Given the description of an element on the screen output the (x, y) to click on. 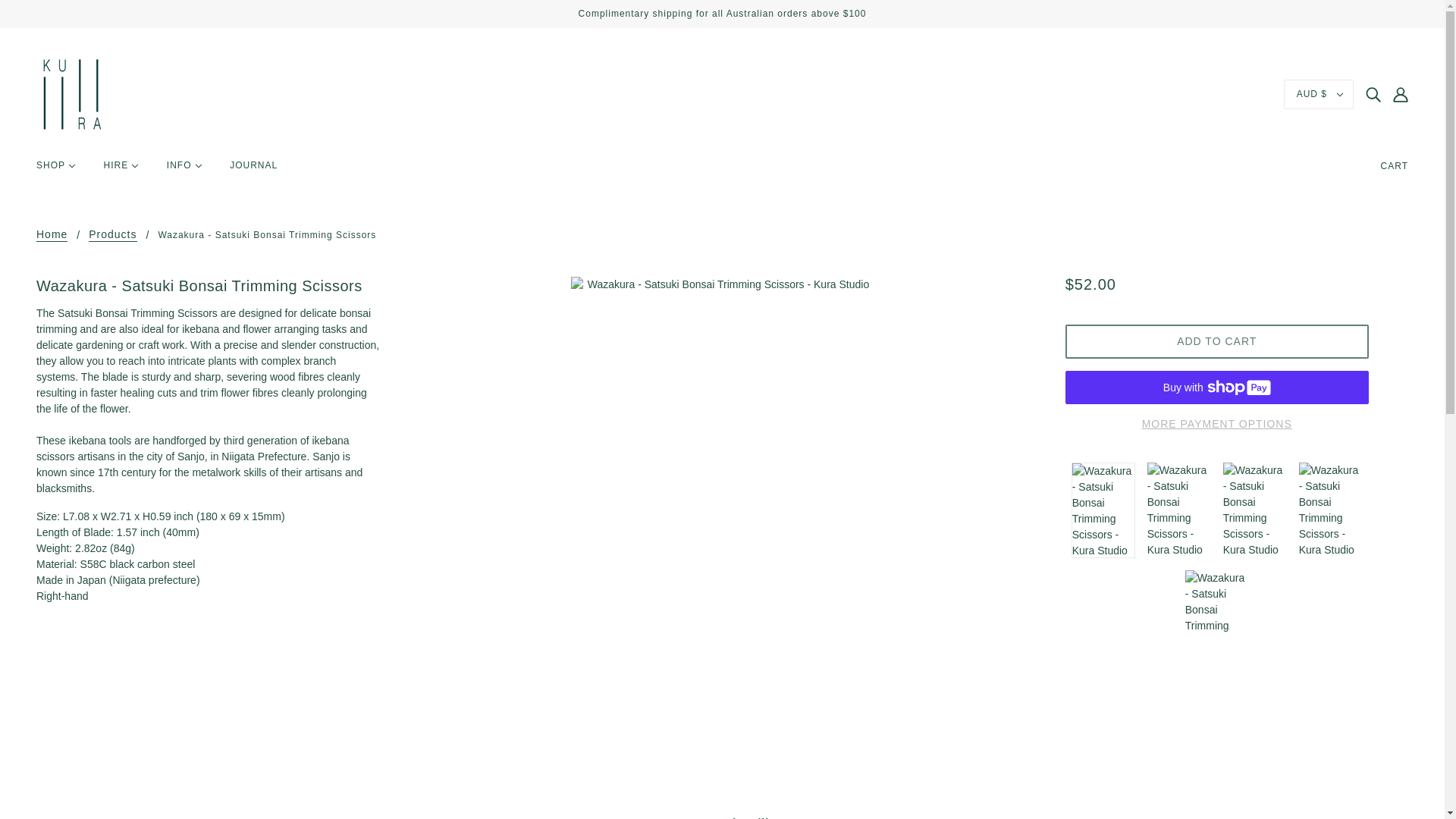
Kura Studio (71, 92)
